Given the description of an element on the screen output the (x, y) to click on. 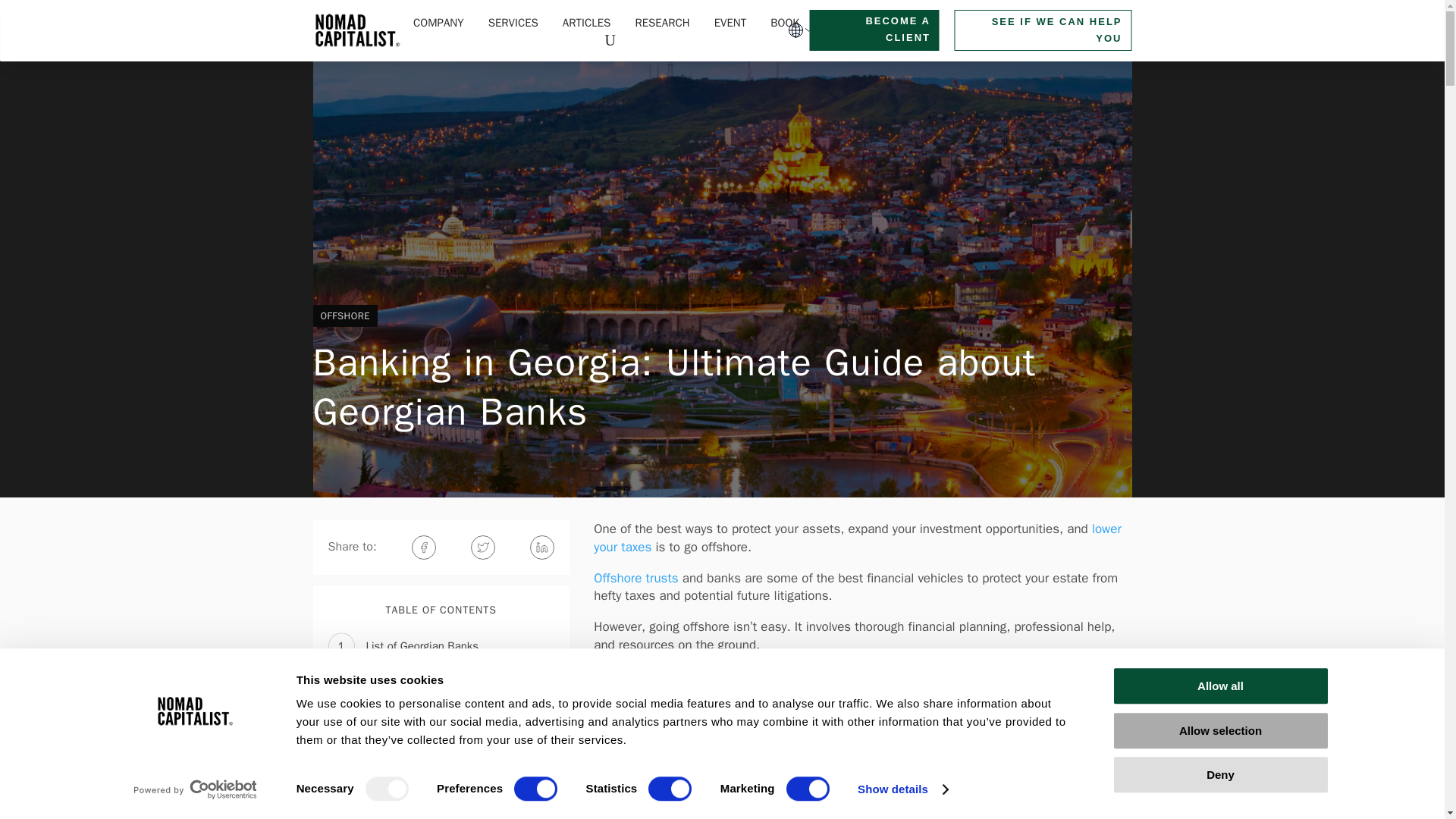
Services (512, 24)
Show details (902, 789)
Company (438, 24)
nomad capitalist logo dark (357, 30)
